Given the description of an element on the screen output the (x, y) to click on. 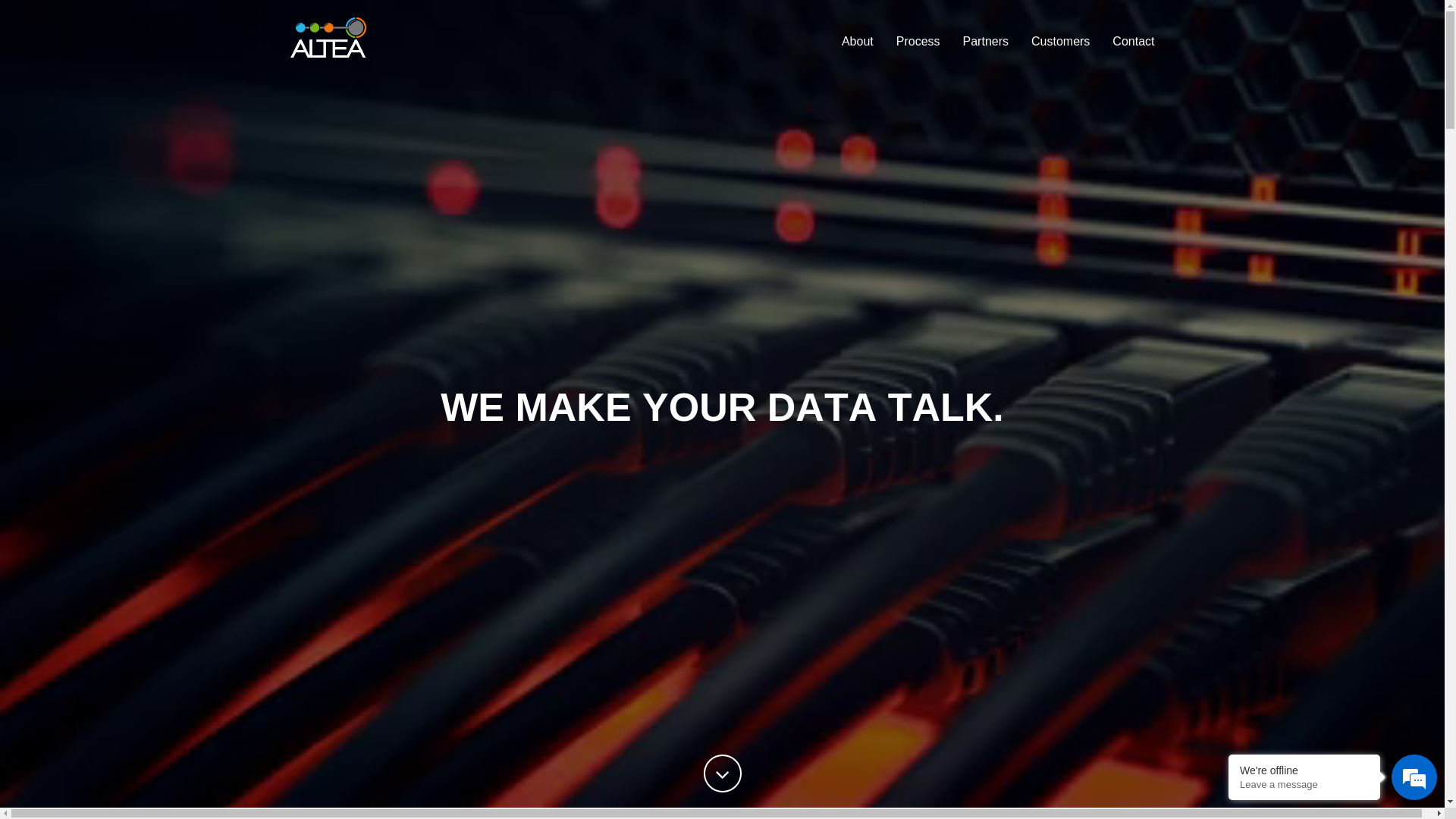
Process Element type: text (917, 41)
Customers Element type: text (1060, 41)
About Element type: text (857, 41)
Contact Element type: text (1133, 41)
Partners Element type: text (985, 41)
